Given the description of an element on the screen output the (x, y) to click on. 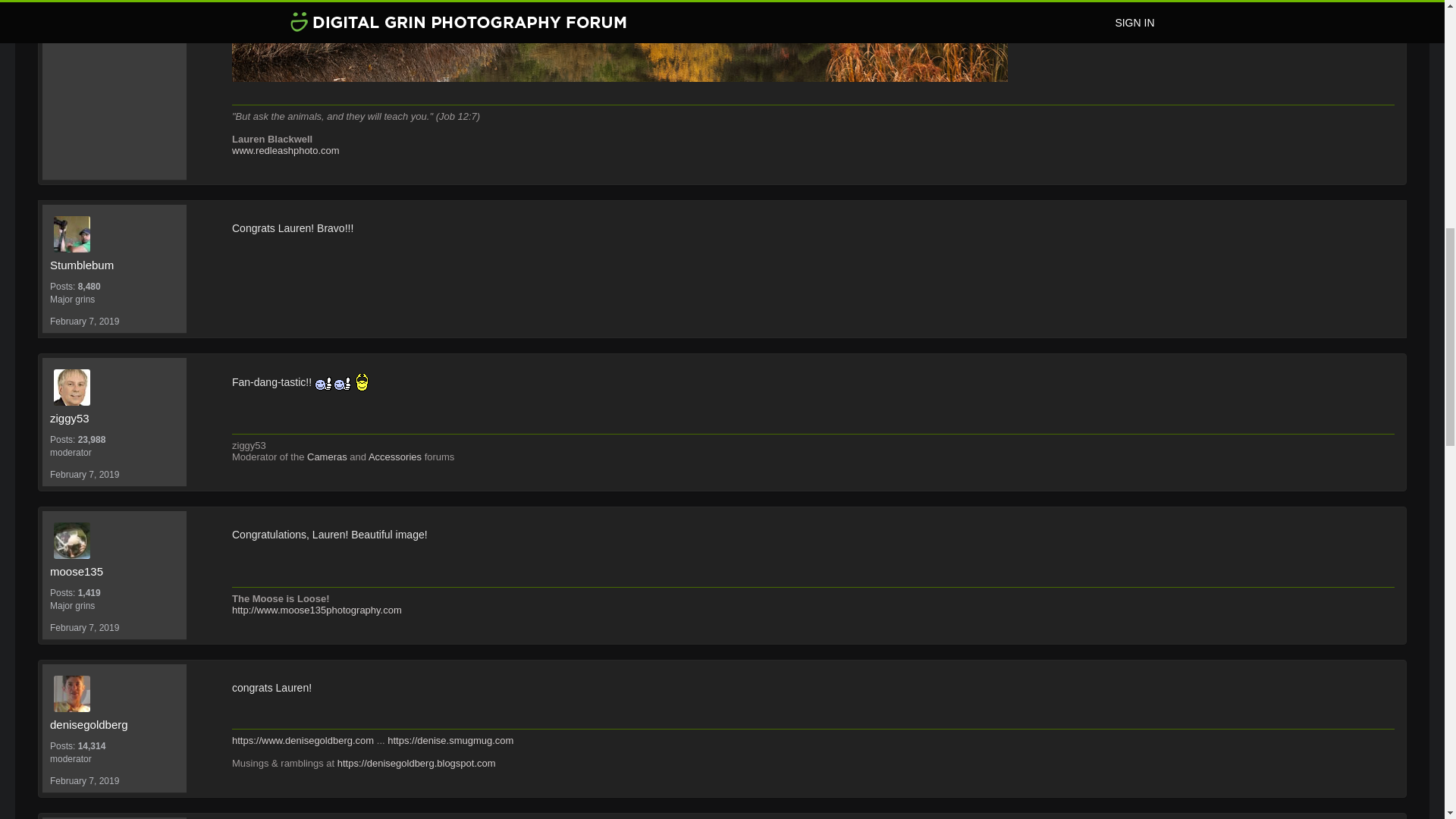
denisegoldberg (118, 693)
denisegoldberg (114, 724)
February 7, 2019 (84, 627)
ziggy53 (114, 418)
www.redleashphoto.com (285, 149)
Major grins (114, 299)
February 7, 2019 (84, 474)
Major grins (114, 605)
February 7, 2019 4:46PM (84, 627)
moose135 (114, 571)
